Given the description of an element on the screen output the (x, y) to click on. 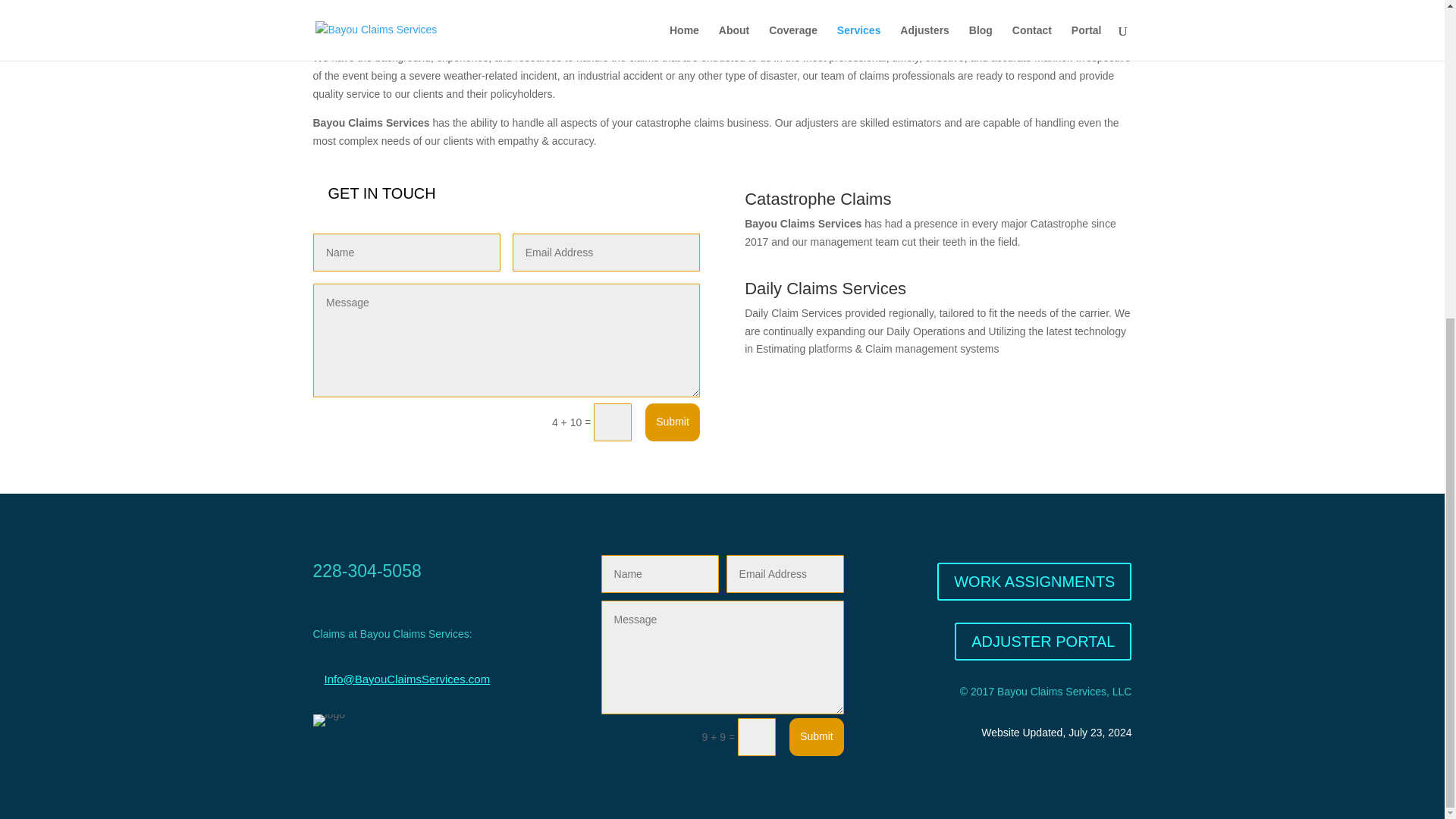
ADJUSTER PORTAL (1043, 641)
logo5 (328, 720)
Submit (672, 422)
GET IN TOUCH (381, 193)
WORK ASSIGNMENTS (1034, 581)
Submit (816, 736)
